Given the description of an element on the screen output the (x, y) to click on. 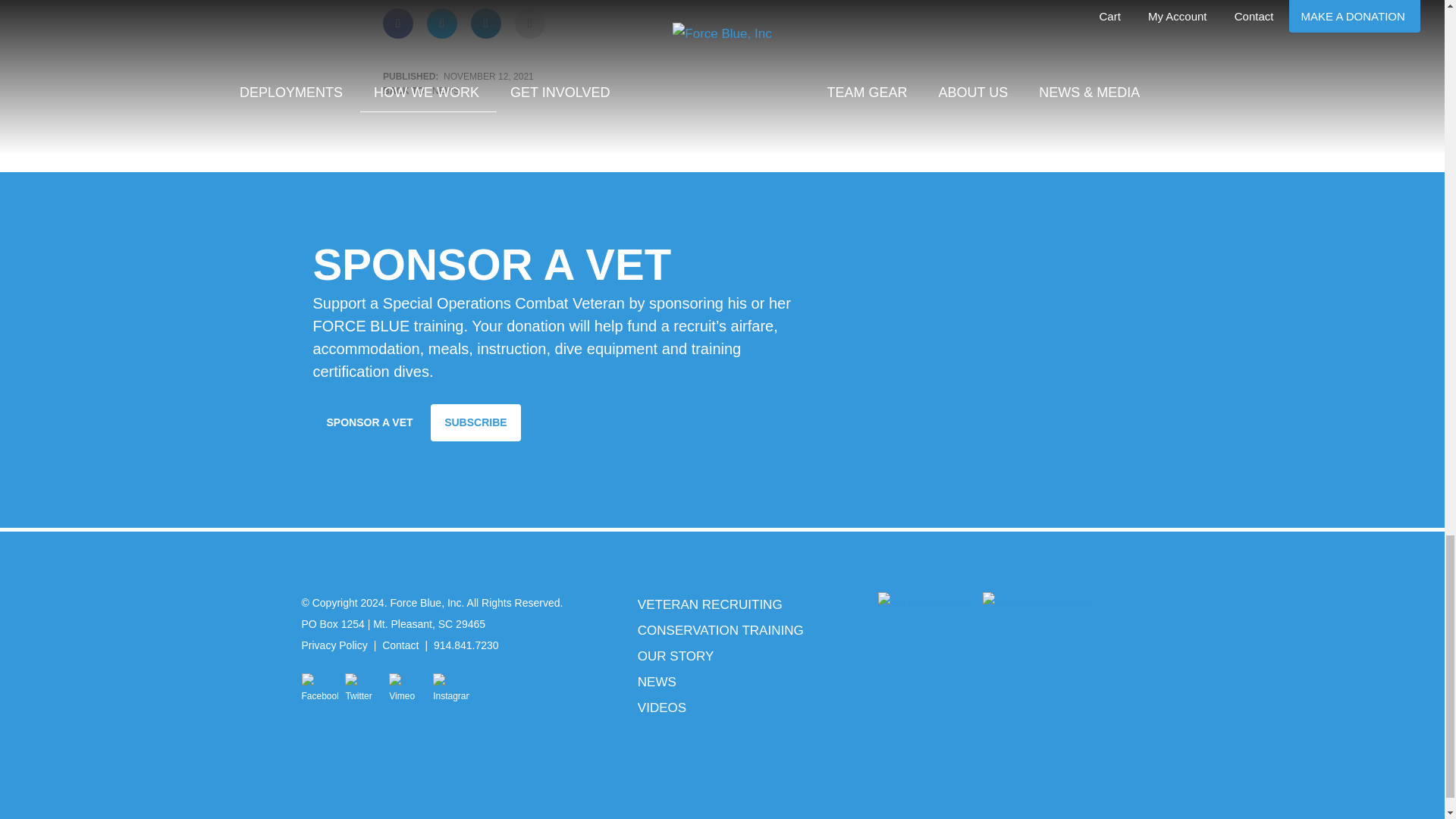
Guidestar Gold Seal (1036, 603)
